Given the description of an element on the screen output the (x, y) to click on. 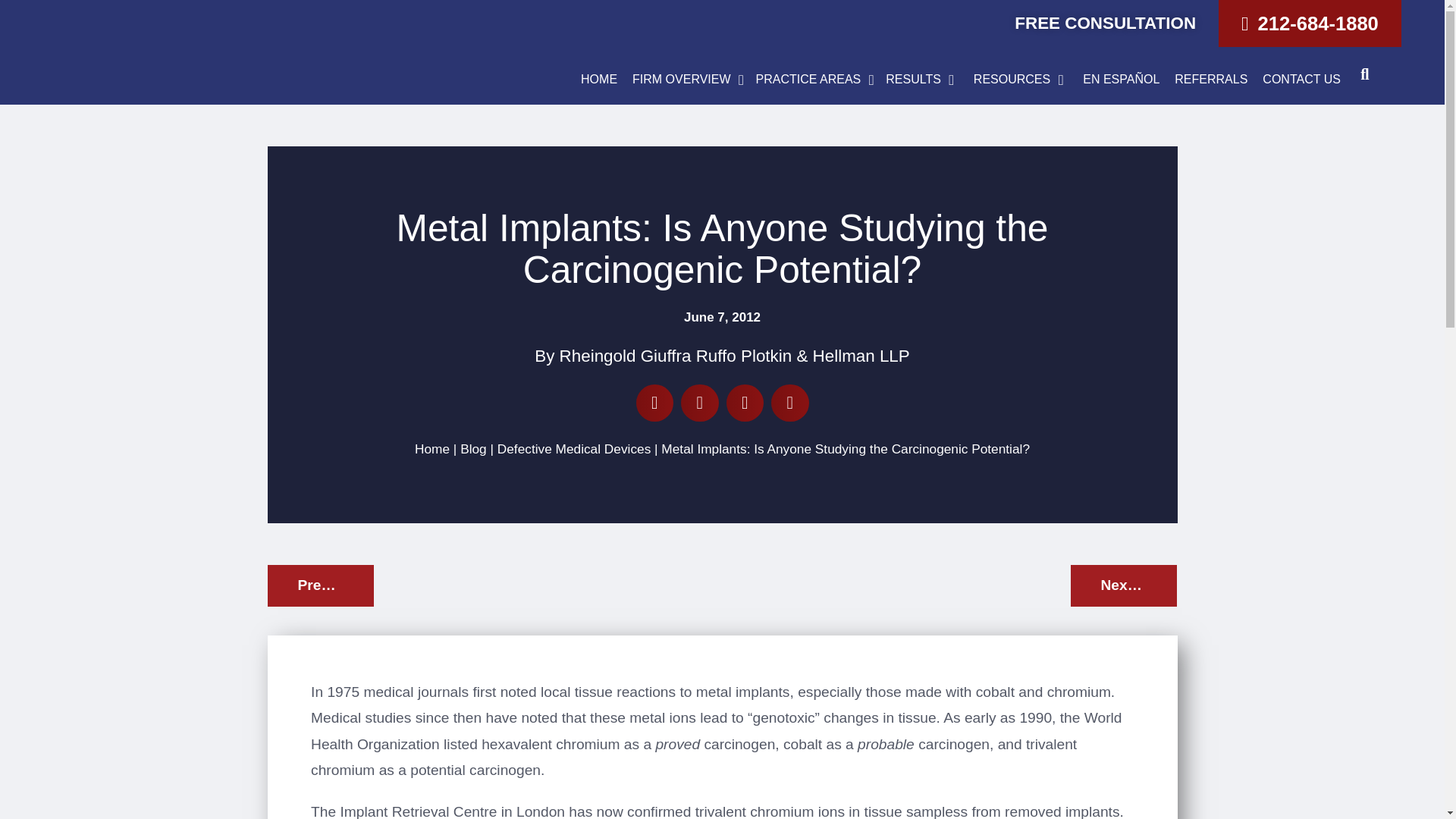
HOME (598, 79)
FREE CONSULTATION (1104, 23)
FIRM OVERVIEW (680, 79)
PRACTICE AREAS (808, 79)
212-684-1880 (1309, 23)
